Given the description of an element on the screen output the (x, y) to click on. 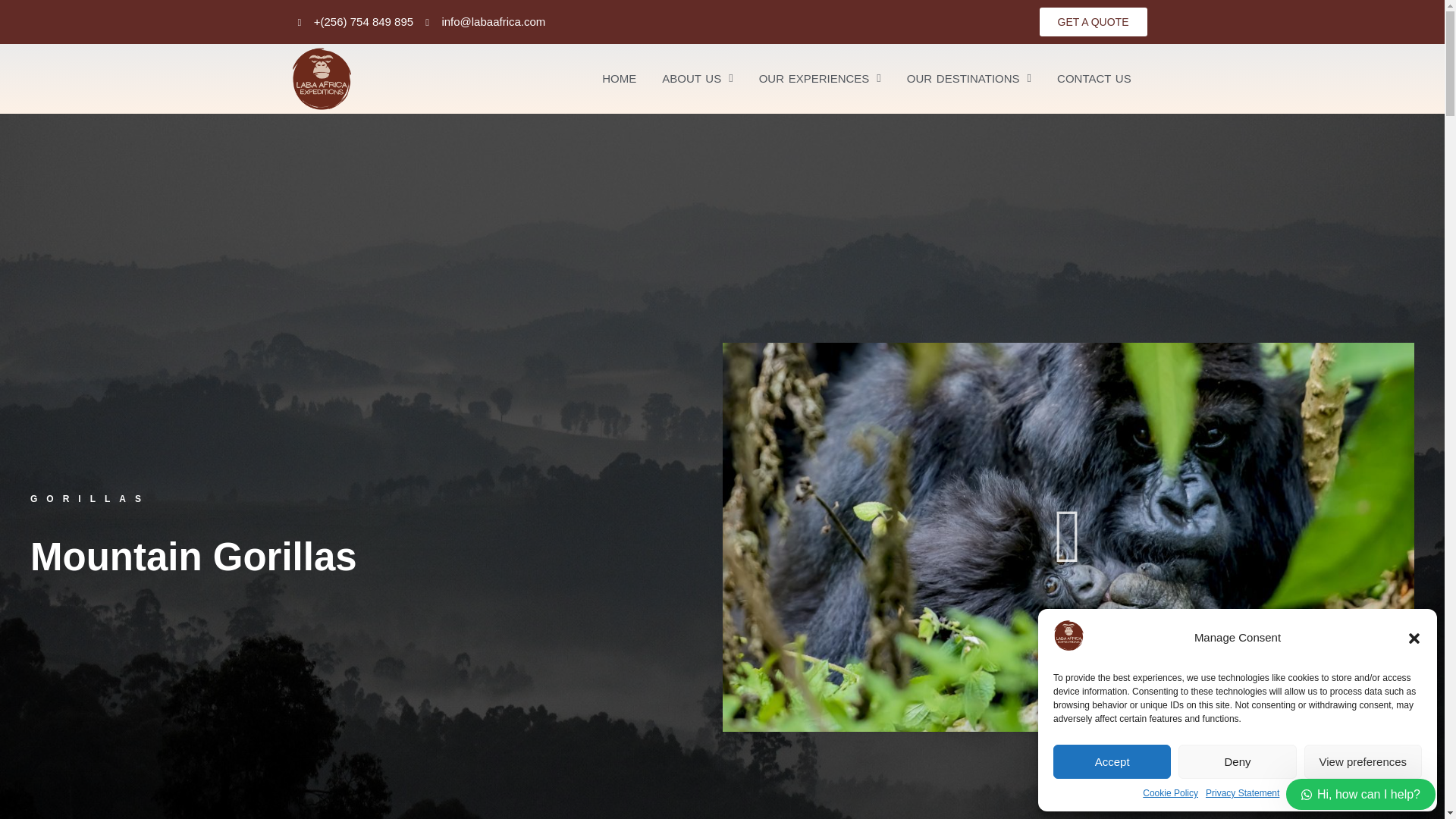
Cookie Policy (1170, 793)
CONTACT US (1093, 78)
Accept (1111, 761)
Impressum (1309, 793)
View preferences (1363, 761)
HOME (619, 78)
OUR DESTINATIONS (968, 78)
ABOUT US (697, 78)
Deny (1236, 761)
Privacy Statement (1242, 793)
GET A QUOTE (1093, 21)
OUR EXPERIENCES (819, 78)
